Given the description of an element on the screen output the (x, y) to click on. 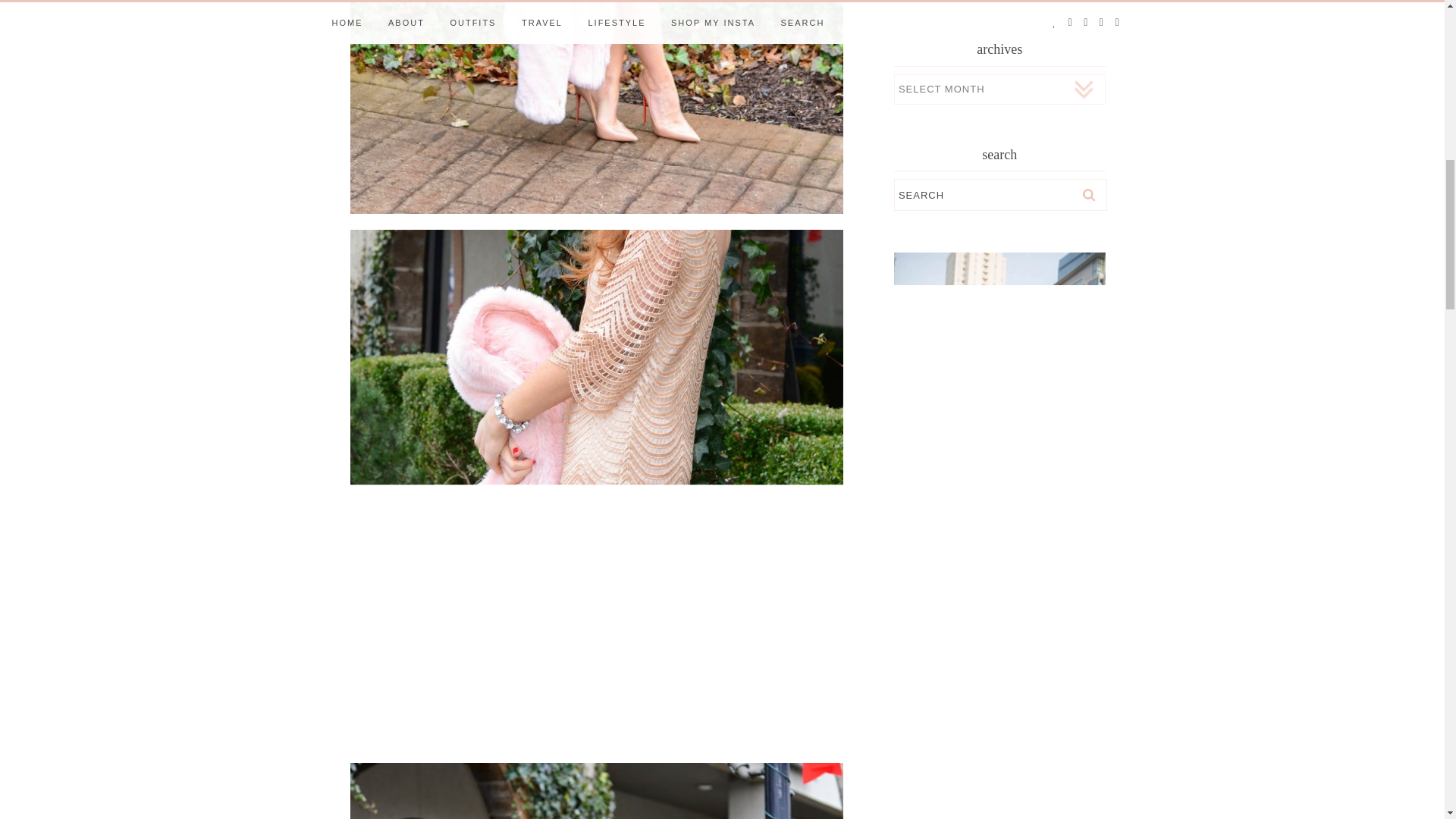
SEARCH (999, 194)
